Given the description of an element on the screen output the (x, y) to click on. 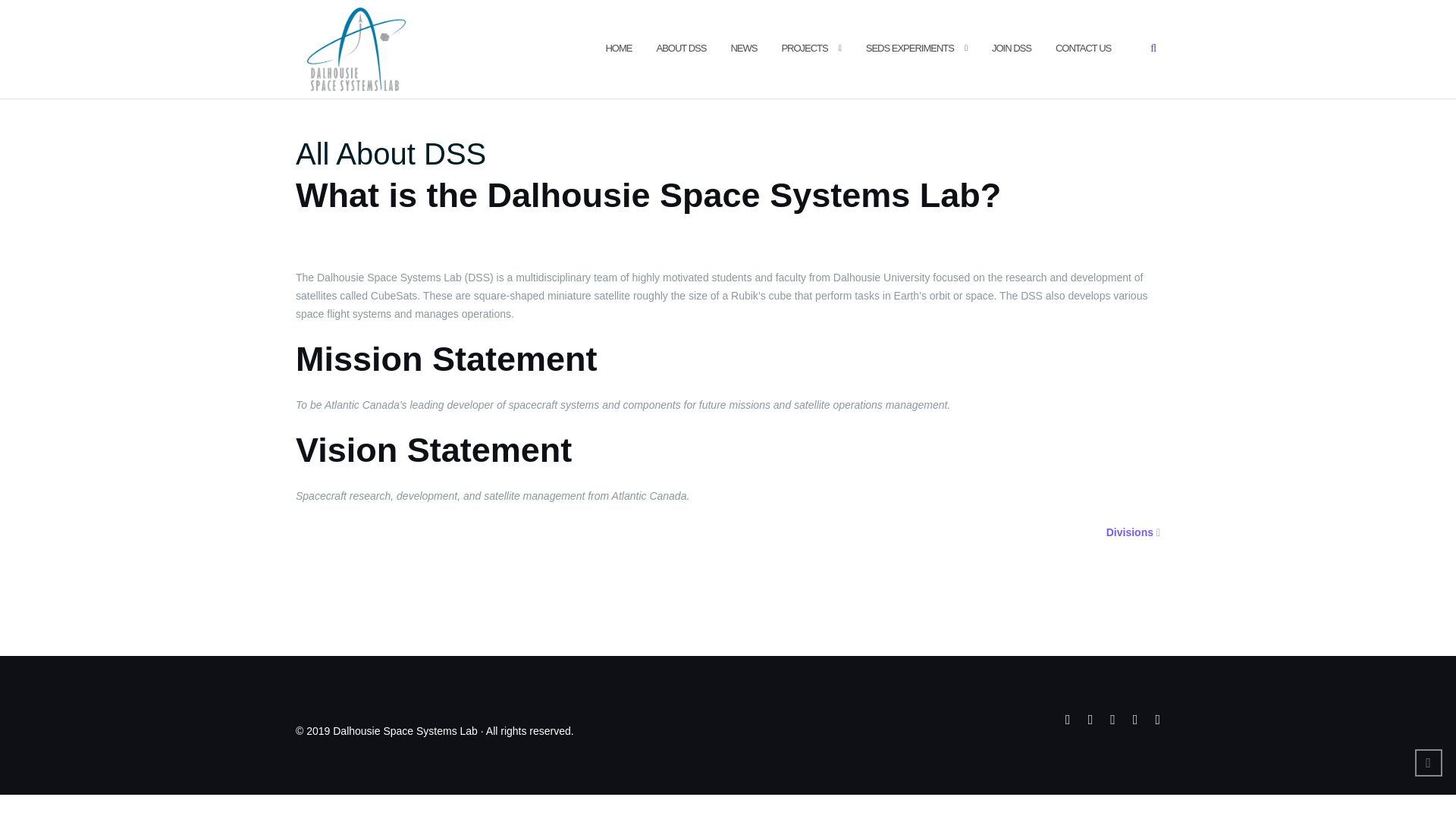
Contact Us (1082, 48)
Join DSS (1010, 48)
SEDS EXPERIMENTS (909, 48)
About DSS (681, 48)
CONTACT US (1082, 48)
Projects (803, 48)
ABOUT DSS (681, 48)
SEDS Experiments (909, 48)
PROJECTS (803, 48)
Divisions (1129, 532)
All About DSS (390, 153)
JOIN DSS (1010, 48)
